Given the description of an element on the screen output the (x, y) to click on. 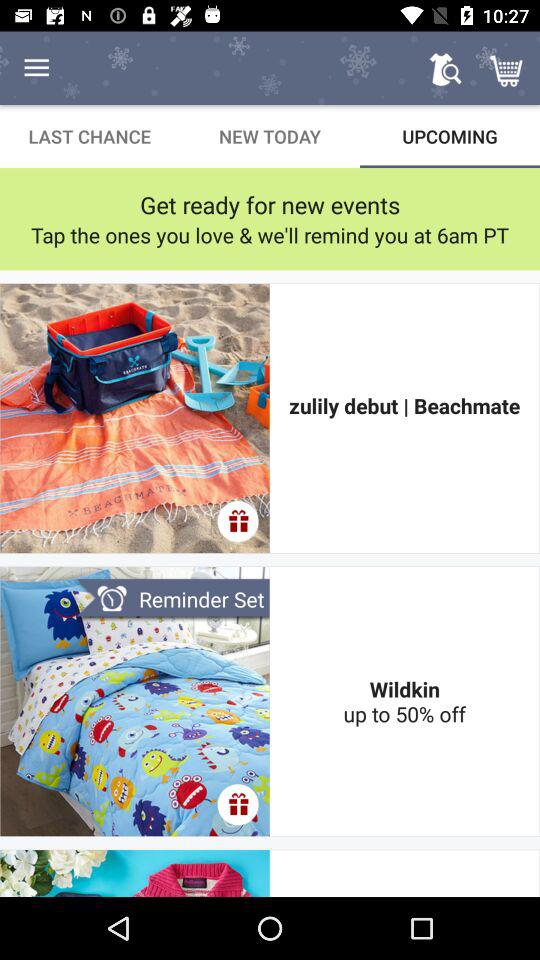
scroll to the reminder set item (171, 599)
